Given the description of an element on the screen output the (x, y) to click on. 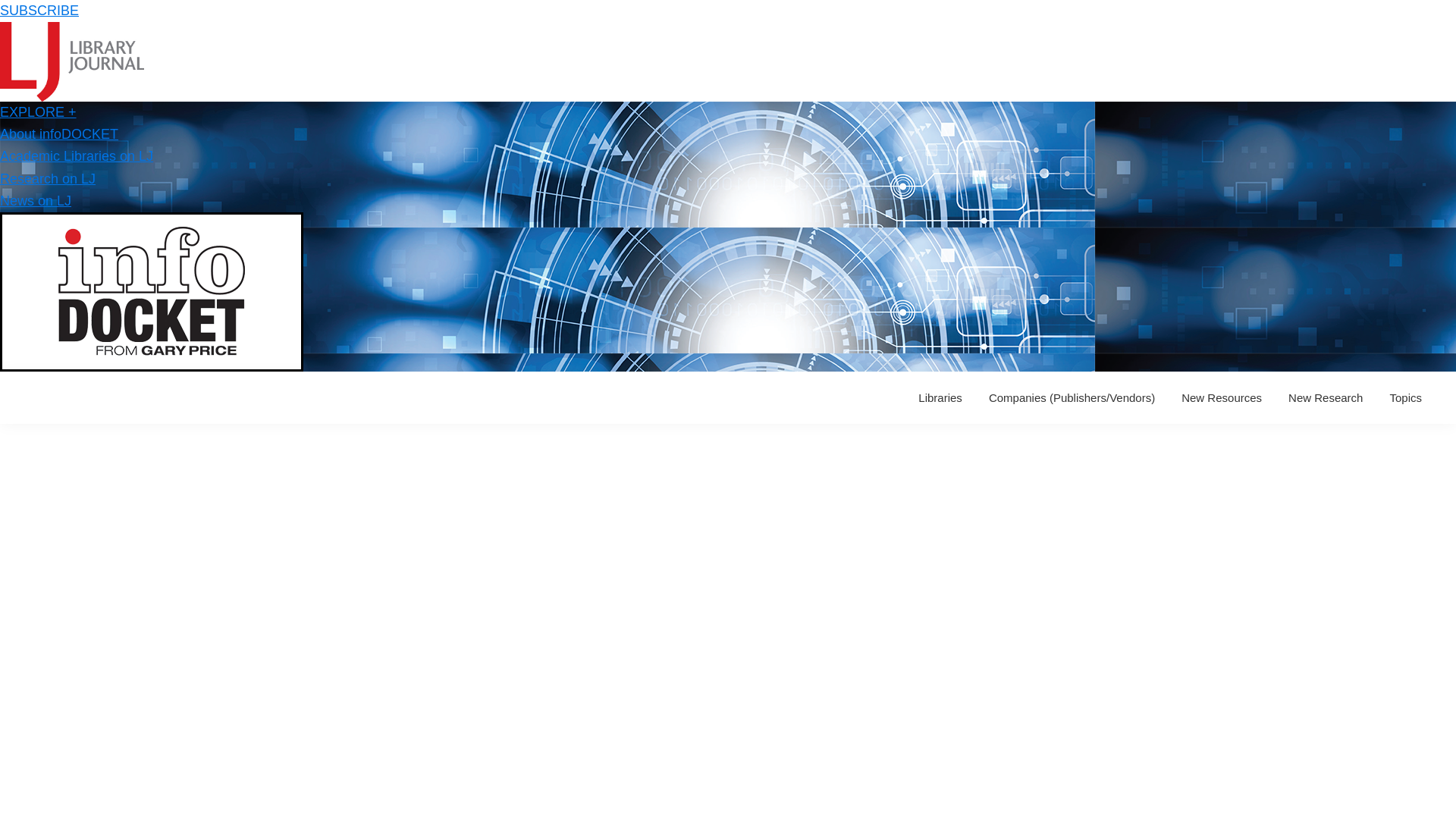
News on LJ (35, 200)
Research on LJ (48, 178)
New Resources (1221, 397)
SUBSCRIBE (39, 10)
About infoDOCKET (58, 133)
Academic Libraries on LJ (76, 155)
Libraries (940, 397)
New Research (1325, 397)
